Given the description of an element on the screen output the (x, y) to click on. 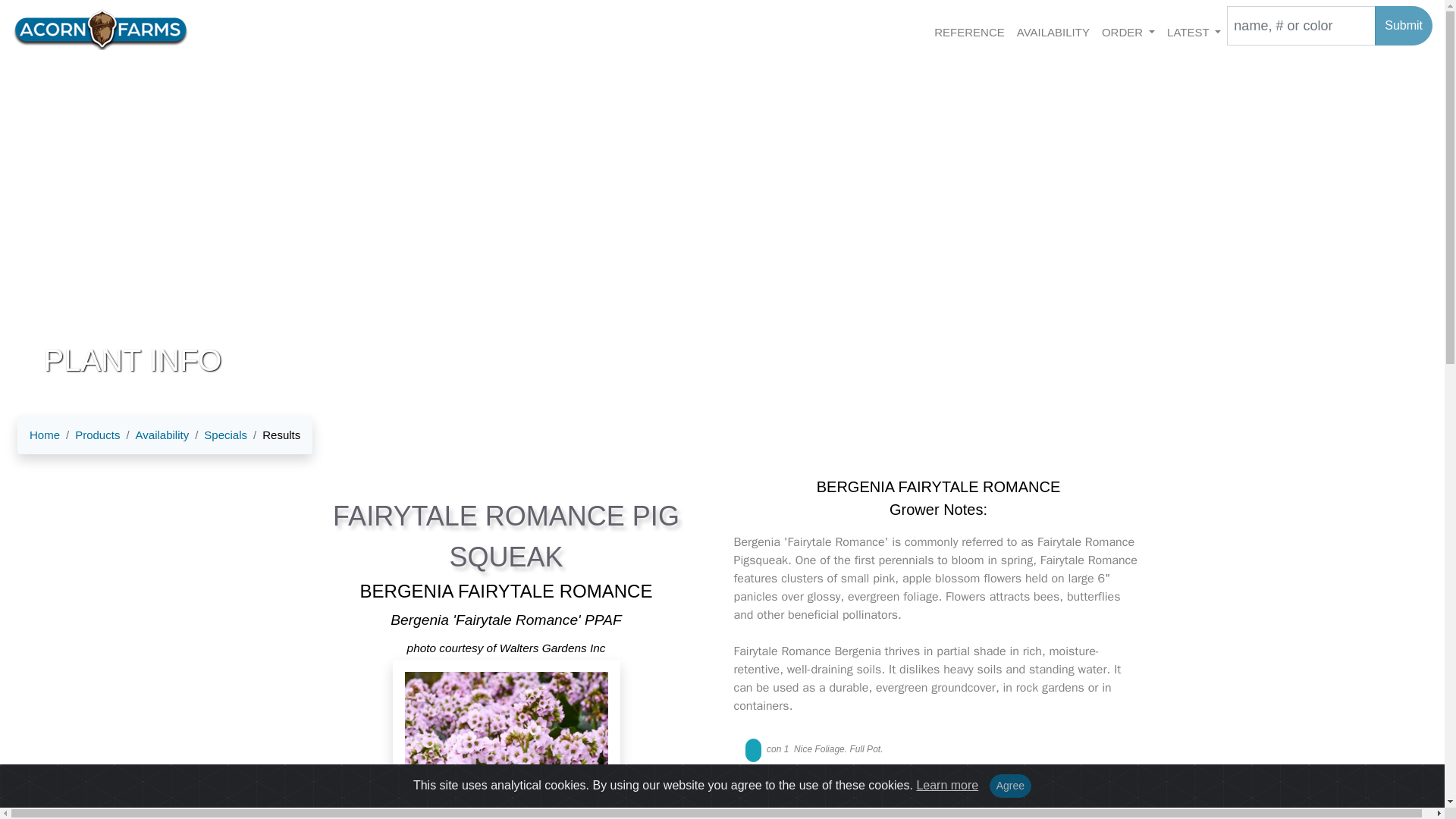
Results (273, 435)
Submit (1403, 25)
Specials (225, 434)
AVAILABILITY (1053, 31)
Availability (162, 434)
Home (44, 435)
REFERENCE (969, 31)
LATEST (1193, 31)
ORDER (1128, 31)
Specials (218, 435)
Home (44, 434)
Products (97, 434)
Availability (154, 435)
Submit (1403, 25)
Products (89, 435)
